Given the description of an element on the screen output the (x, y) to click on. 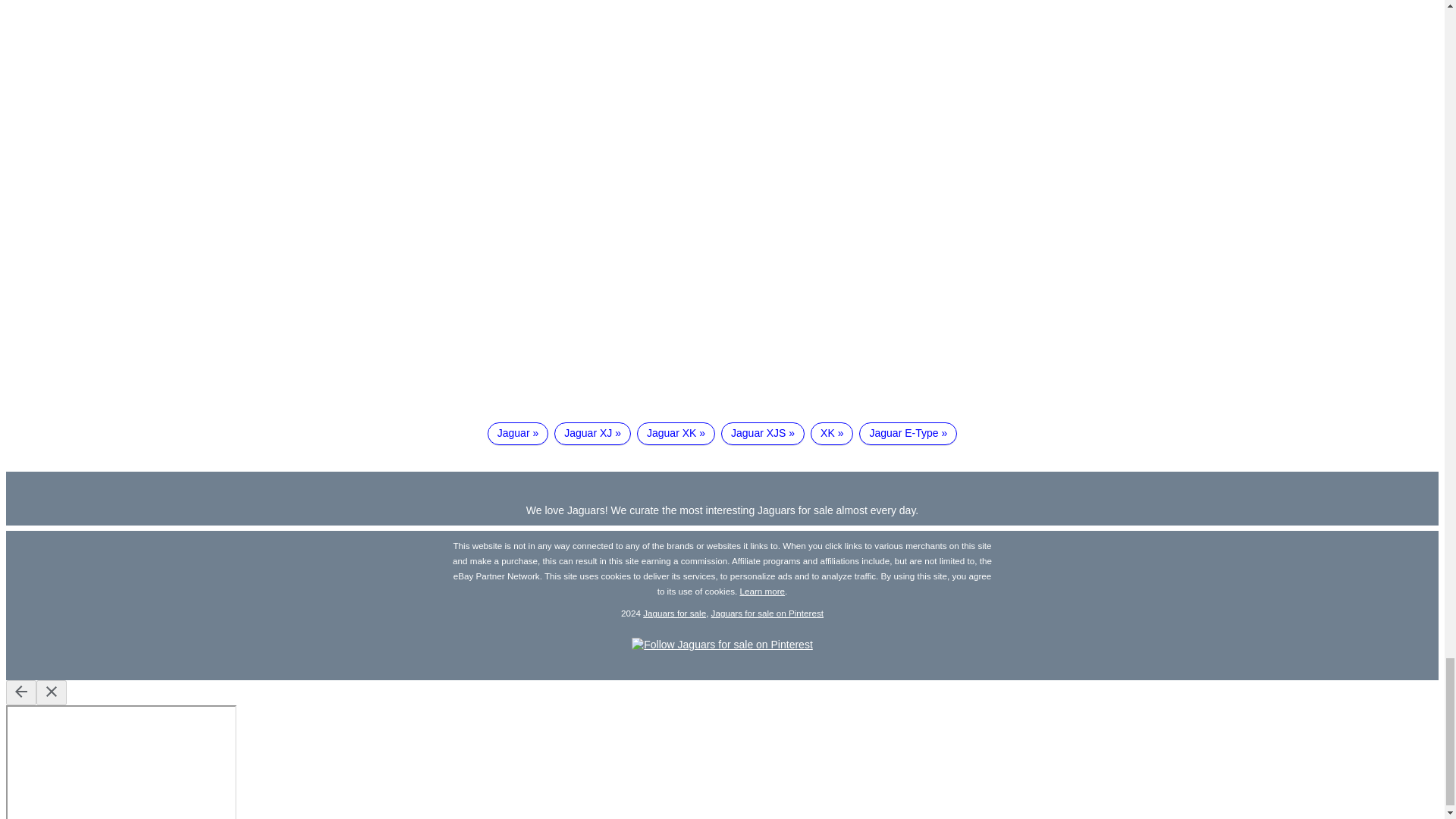
Jaguars for sale on Pinterest (767, 613)
Jaguar XJS (762, 433)
XK (831, 433)
Jaguar (517, 433)
Follow Jaguars for sale on Pinterest (721, 644)
Learn more (762, 591)
Jaguars for sale (674, 613)
Jaguar XJ (592, 433)
Jaguar E-Type (907, 433)
Jaguar XK (675, 433)
